Given the description of an element on the screen output the (x, y) to click on. 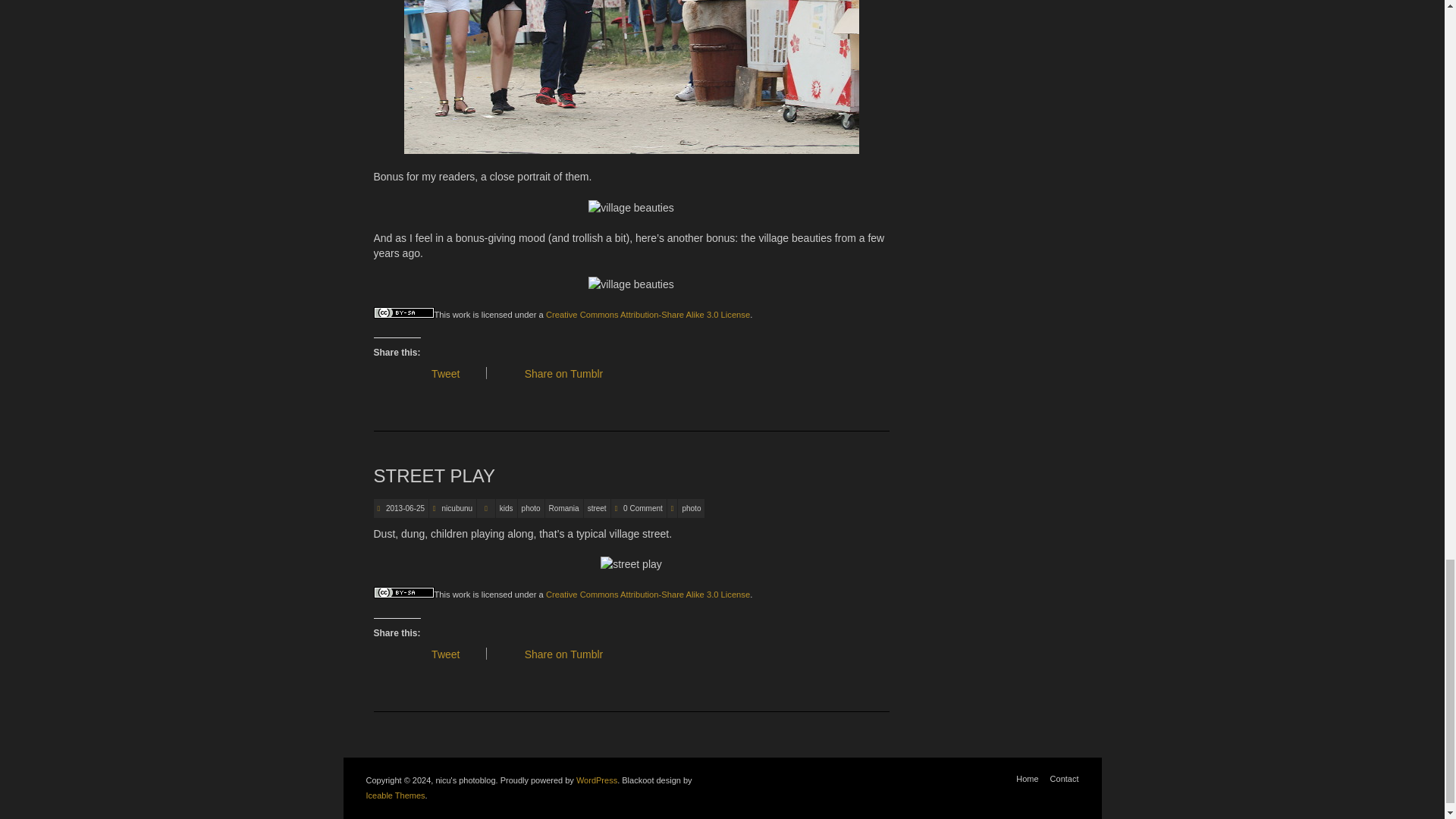
Category (486, 507)
View all posts by nicubunu (457, 508)
Street play (404, 508)
Share on Tumblr (568, 653)
Street play (433, 476)
Share on Tumblr (568, 373)
